Given the description of an element on the screen output the (x, y) to click on. 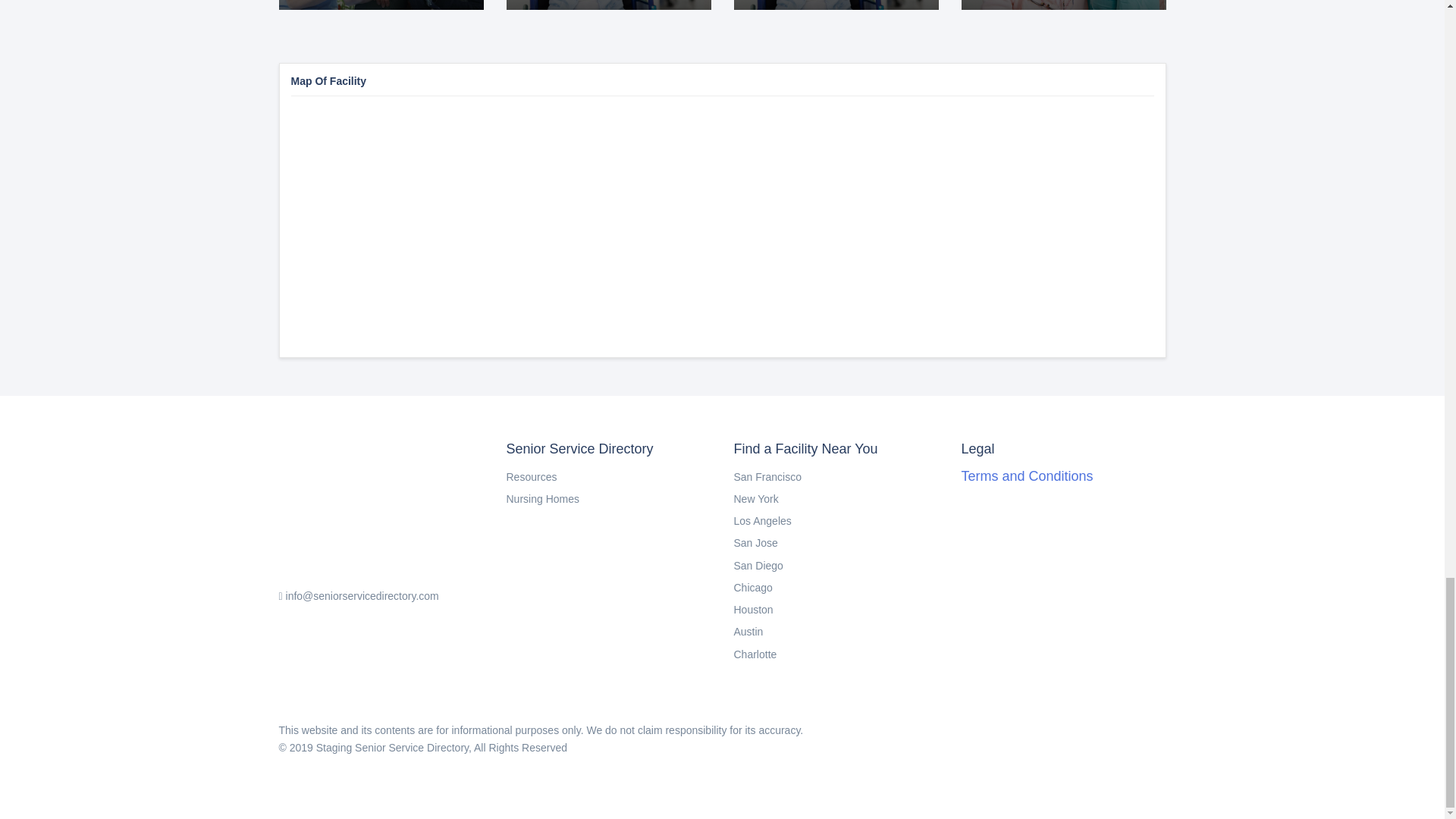
New York (836, 4)
Austin (755, 499)
San Jose (747, 631)
San Diego (1063, 4)
Chicago (755, 542)
Charlotte (758, 565)
San Francisco (753, 587)
Houston (755, 654)
Los Angeles (767, 476)
Terms and Conditions (753, 609)
Resources (762, 521)
Nursing Homes (1026, 476)
